Given the description of an element on the screen output the (x, y) to click on. 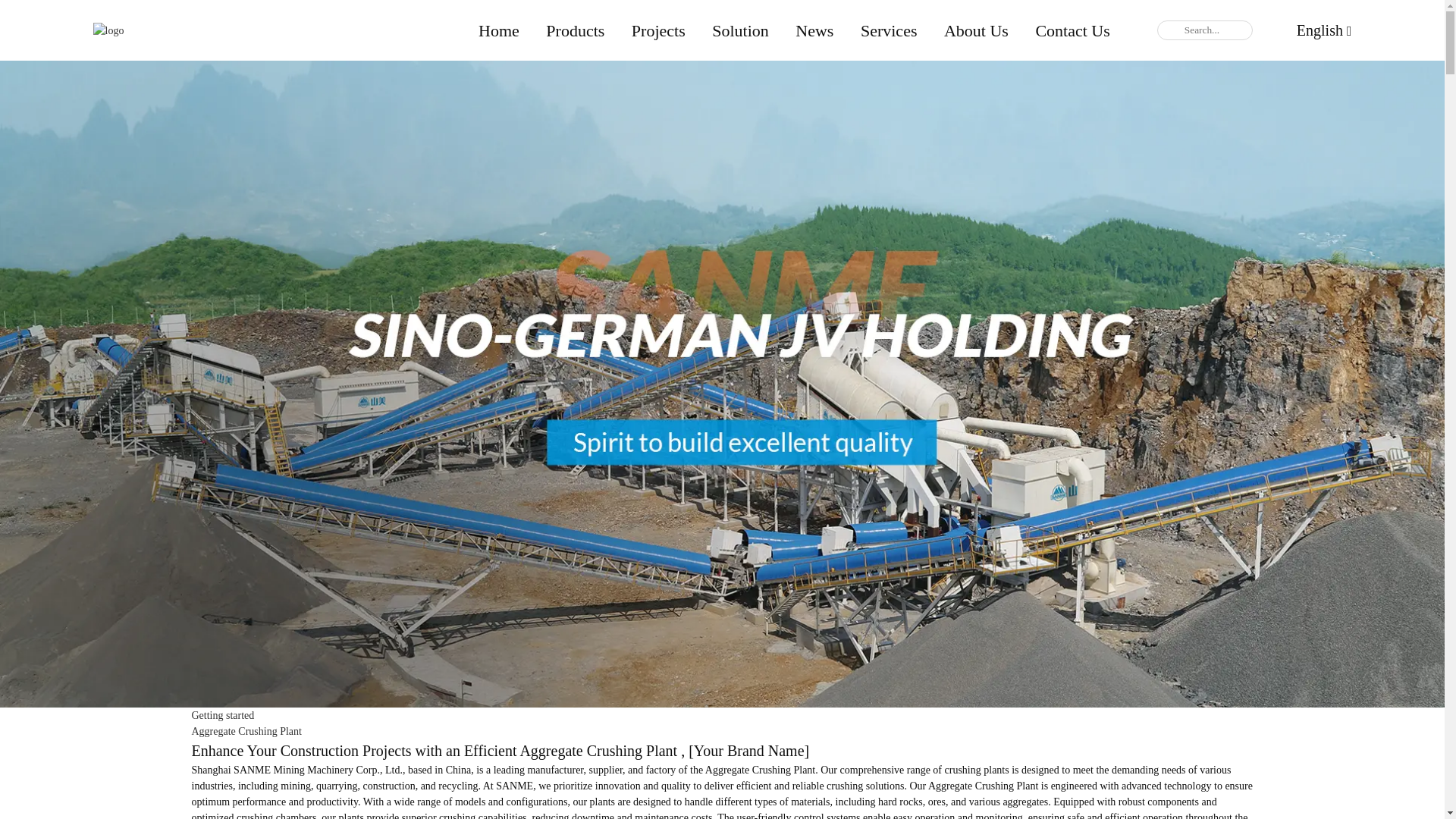
Home (499, 30)
Products (575, 30)
